Given the description of an element on the screen output the (x, y) to click on. 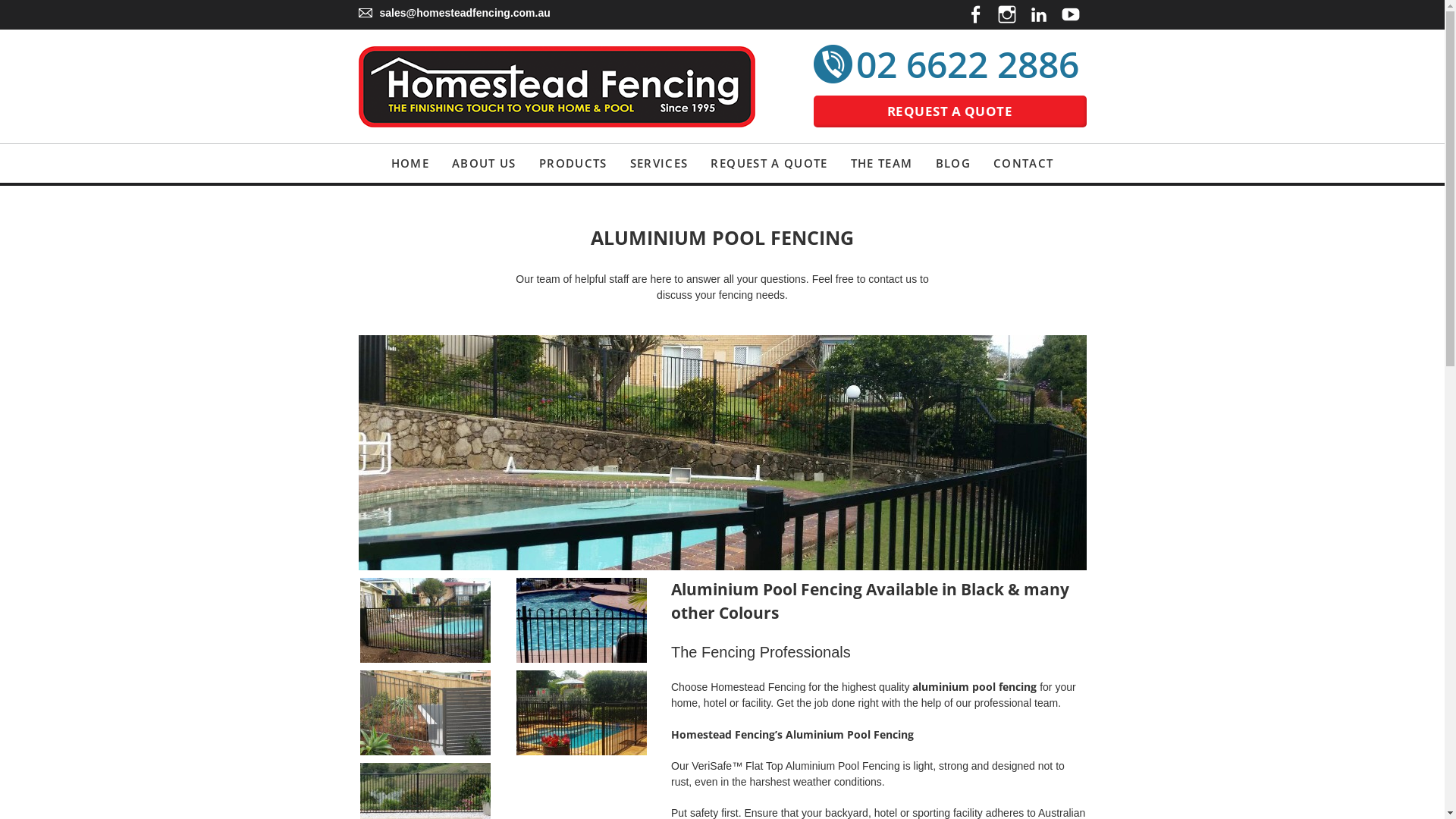
LinkedIn Element type: text (1038, 14)
REQUEST A QUOTE Element type: text (768, 163)
02 6622 2886 Element type: text (966, 63)
ABOUT US Element type: text (483, 163)
SERVICES Element type: text (658, 163)
Homestead Fencing Element type: text (566, 86)
BLOG Element type: text (953, 163)
HOME Element type: text (409, 163)
Youtube Element type: text (1069, 14)
REQUEST A QUOTE Element type: text (948, 111)
CONTACT Element type: text (1023, 163)
Instagram Element type: text (1006, 14)
Facebook Element type: text (974, 14)
PRODUCTS Element type: text (572, 163)
THE TEAM Element type: text (881, 163)
